Given the description of an element on the screen output the (x, y) to click on. 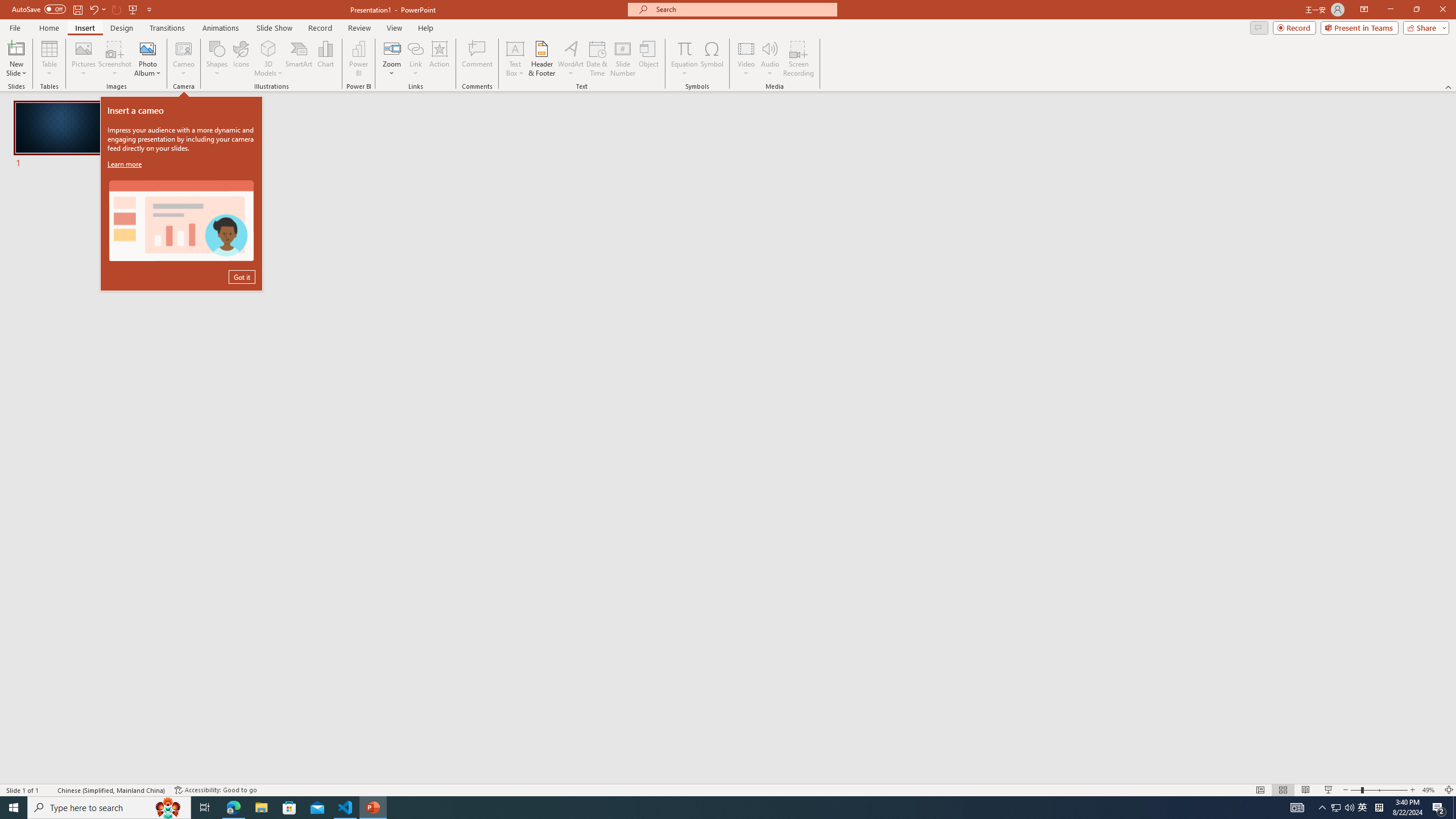
Comment (476, 58)
Screenshot (114, 58)
Spell Check  (49, 790)
Screen Recording... (798, 58)
Action (439, 58)
Link (415, 58)
Symbol... (711, 58)
Learn more (125, 163)
